Given the description of an element on the screen output the (x, y) to click on. 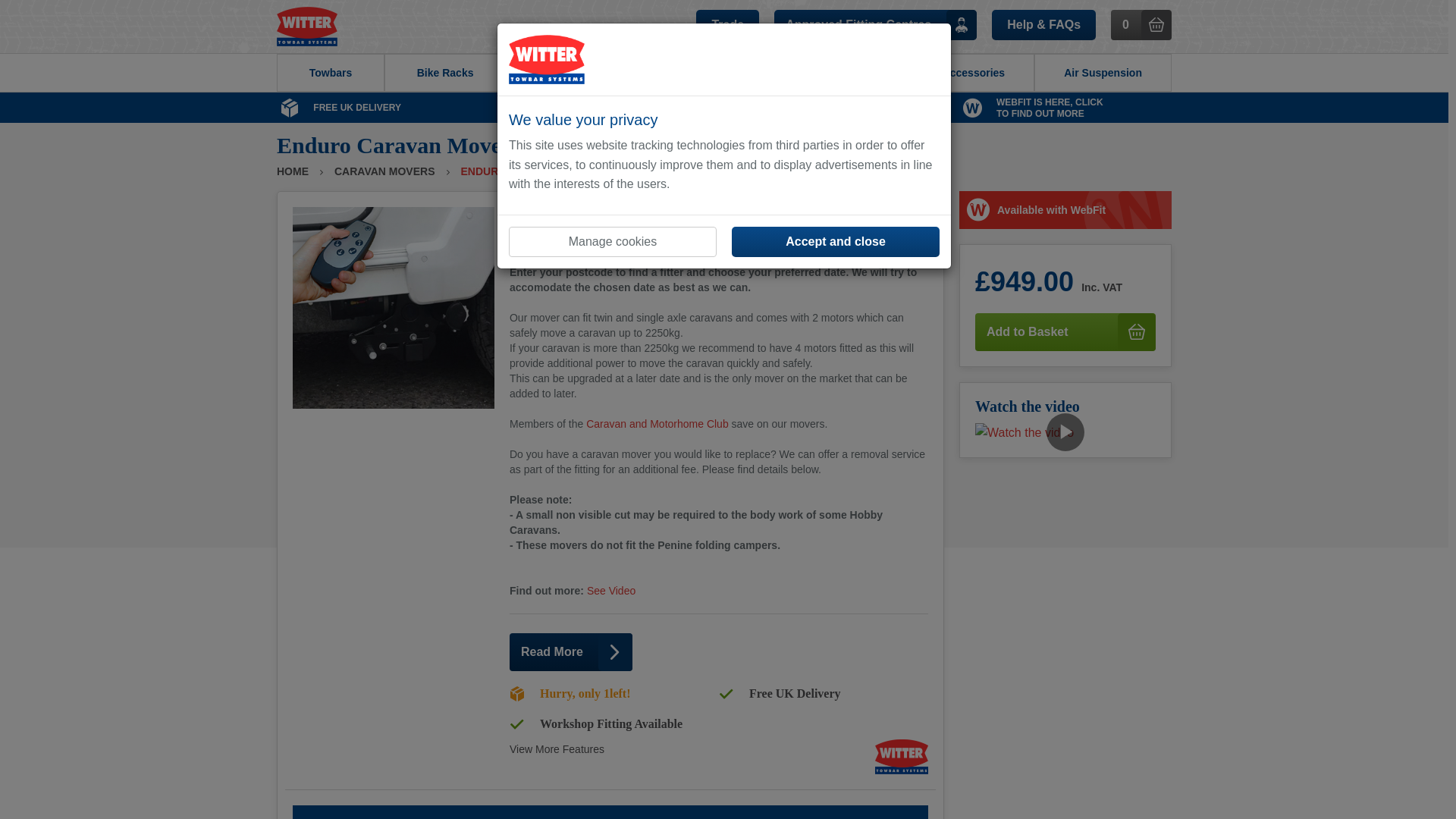
Read More (570, 651)
Electrical Kits (717, 72)
Trade (726, 24)
0 (330, 72)
Caravan and Motorhome Club (1141, 24)
View More Features (657, 423)
CARAVAN MOVERS (556, 748)
Towbar Necks (384, 171)
Caravan Movers (847, 72)
See Video (578, 72)
View More Features (1065, 107)
Accessories (610, 590)
Air Suspension (556, 748)
